Given the description of an element on the screen output the (x, y) to click on. 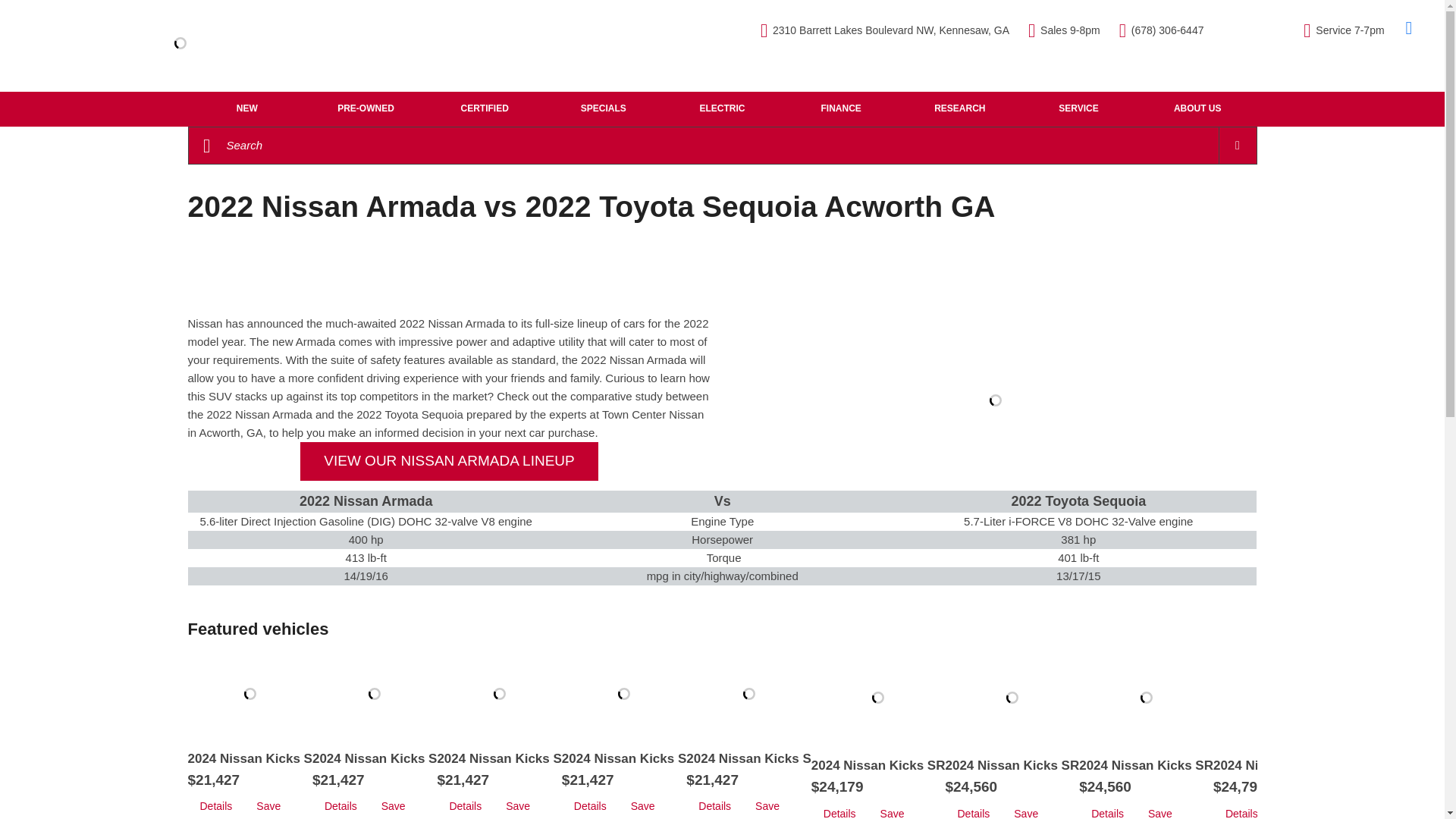
PRE-OWNED (365, 108)
Service 7-7pm (1343, 30)
2310 Barrett Lakes Boulevard NW, Kennesaw, GA (884, 30)
Sales 9-8pm (1063, 30)
NEW (247, 108)
